Given the description of an element on the screen output the (x, y) to click on. 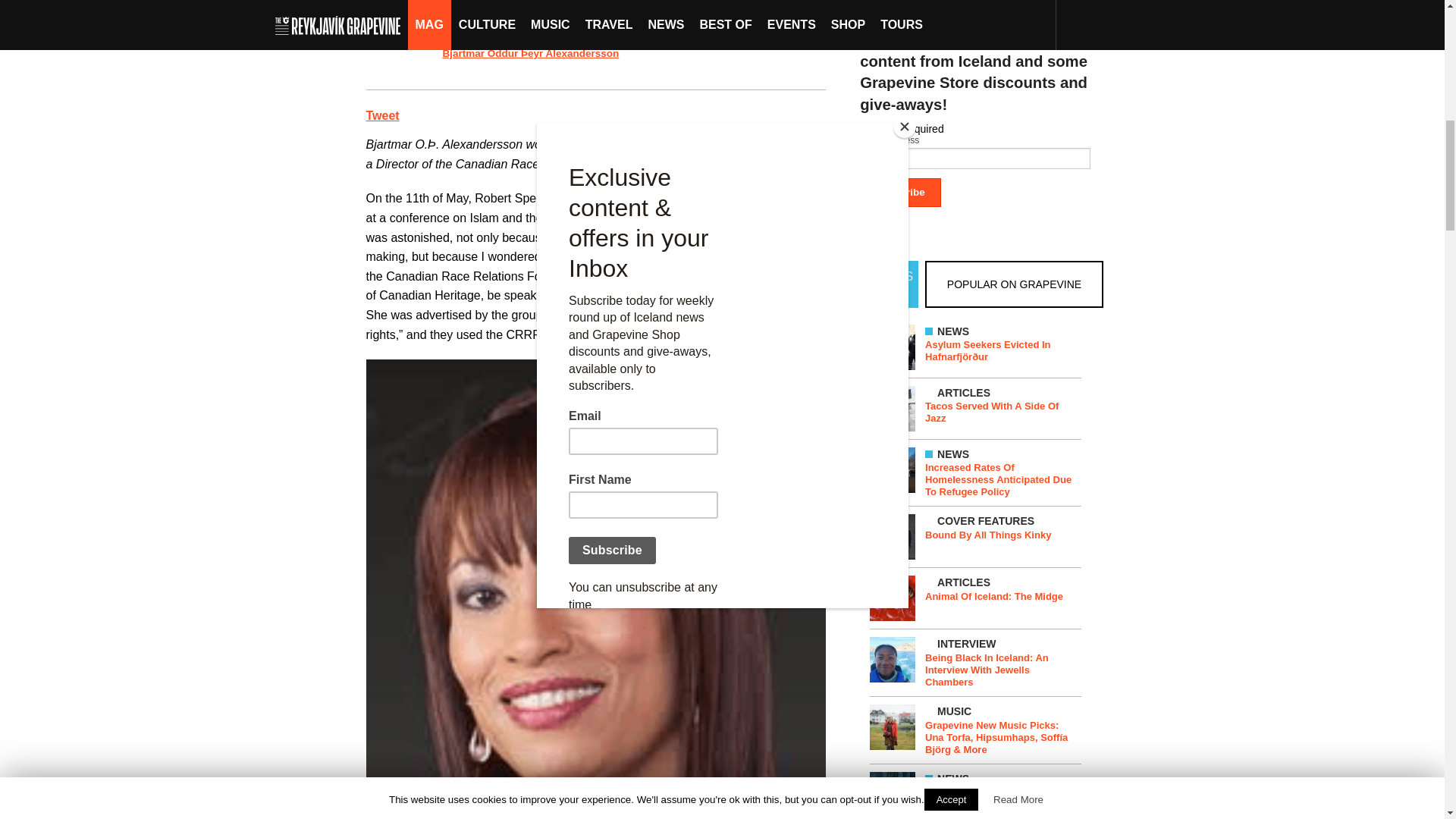
Tweet (381, 115)
Subscribe (900, 192)
